Given the description of an element on the screen output the (x, y) to click on. 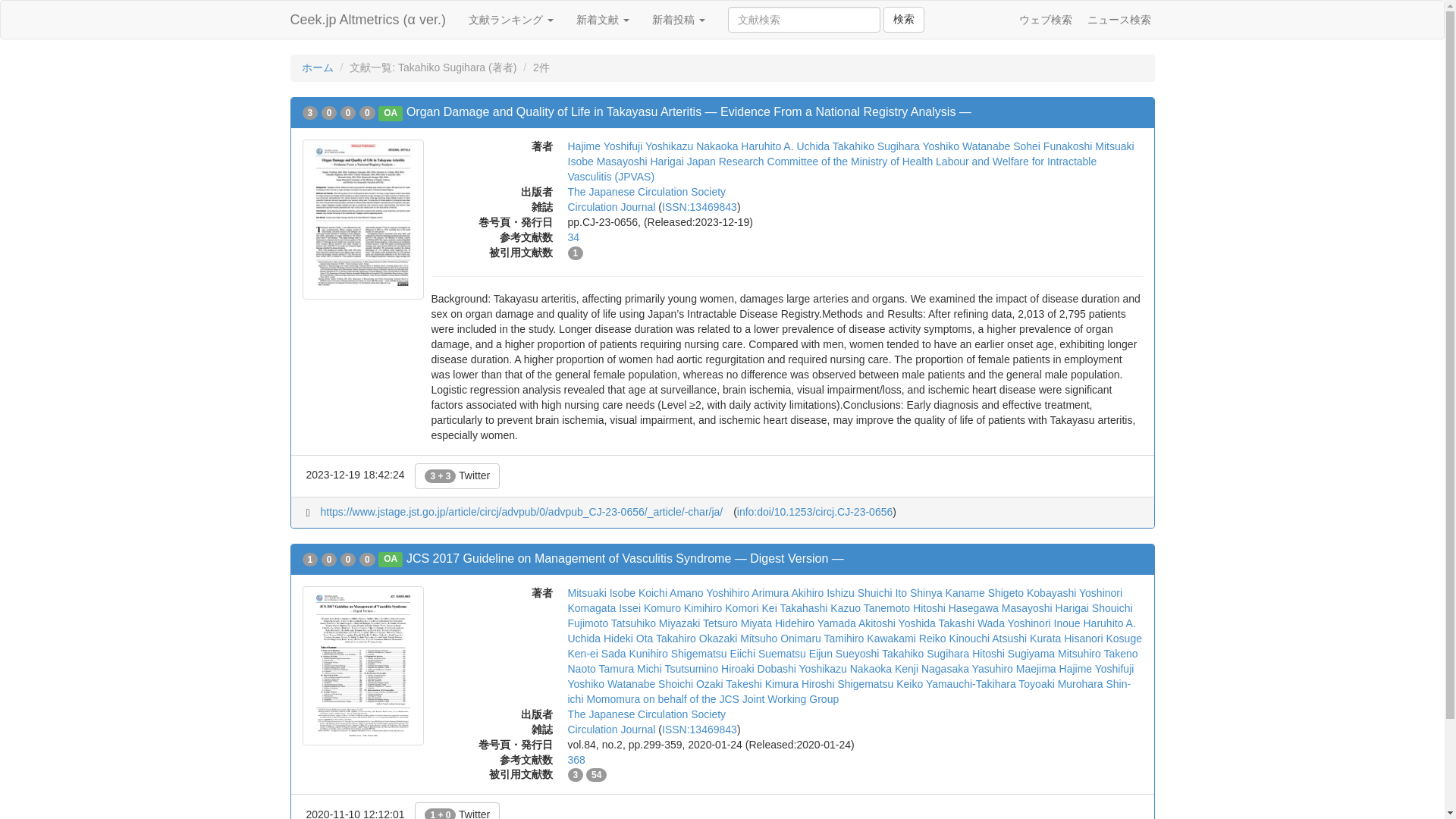
34 (573, 236)
ISSN:13469843 (699, 206)
Masayoshi Harigai (640, 161)
Takahiko Sugihara (876, 146)
Mitsuaki Isobe (850, 153)
1 (575, 252)
Sohei Funakoshi (1052, 146)
Circulation Journal (611, 206)
Haruhito A. Uchida (785, 146)
Yoshiko Watanabe (966, 146)
